Given the description of an element on the screen output the (x, y) to click on. 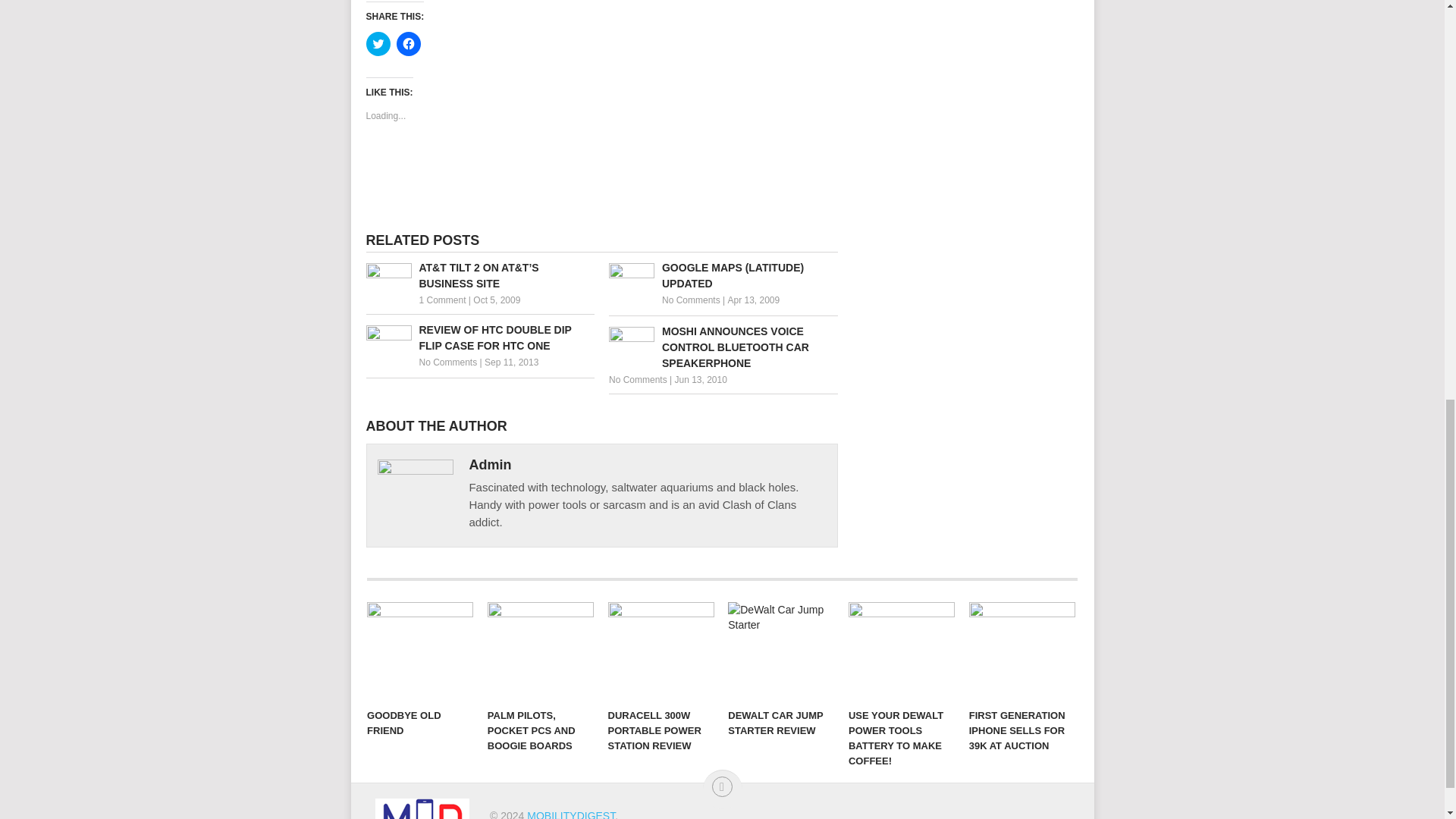
Moshi Announces Voice Control Bluetooth Car Speakerphone (723, 347)
GOODBYE OLD FRIEND (419, 651)
MOSHI ANNOUNCES VOICE CONTROL BLUETOOTH CAR SPEAKERPHONE (723, 347)
Review of HTC Double Dip Flip Case for HTC One (479, 337)
1 Comment (442, 299)
No Comments (691, 299)
USE YOUR DEWALT POWER TOOLS BATTERY TO MAKE COFFEE! (901, 651)
DEWALT CAR JUMP STARTER REVIEW (781, 651)
Click to share on Twitter (377, 43)
REVIEW OF HTC DOUBLE DIP FLIP CASE FOR HTC ONE (479, 337)
